Given the description of an element on the screen output the (x, y) to click on. 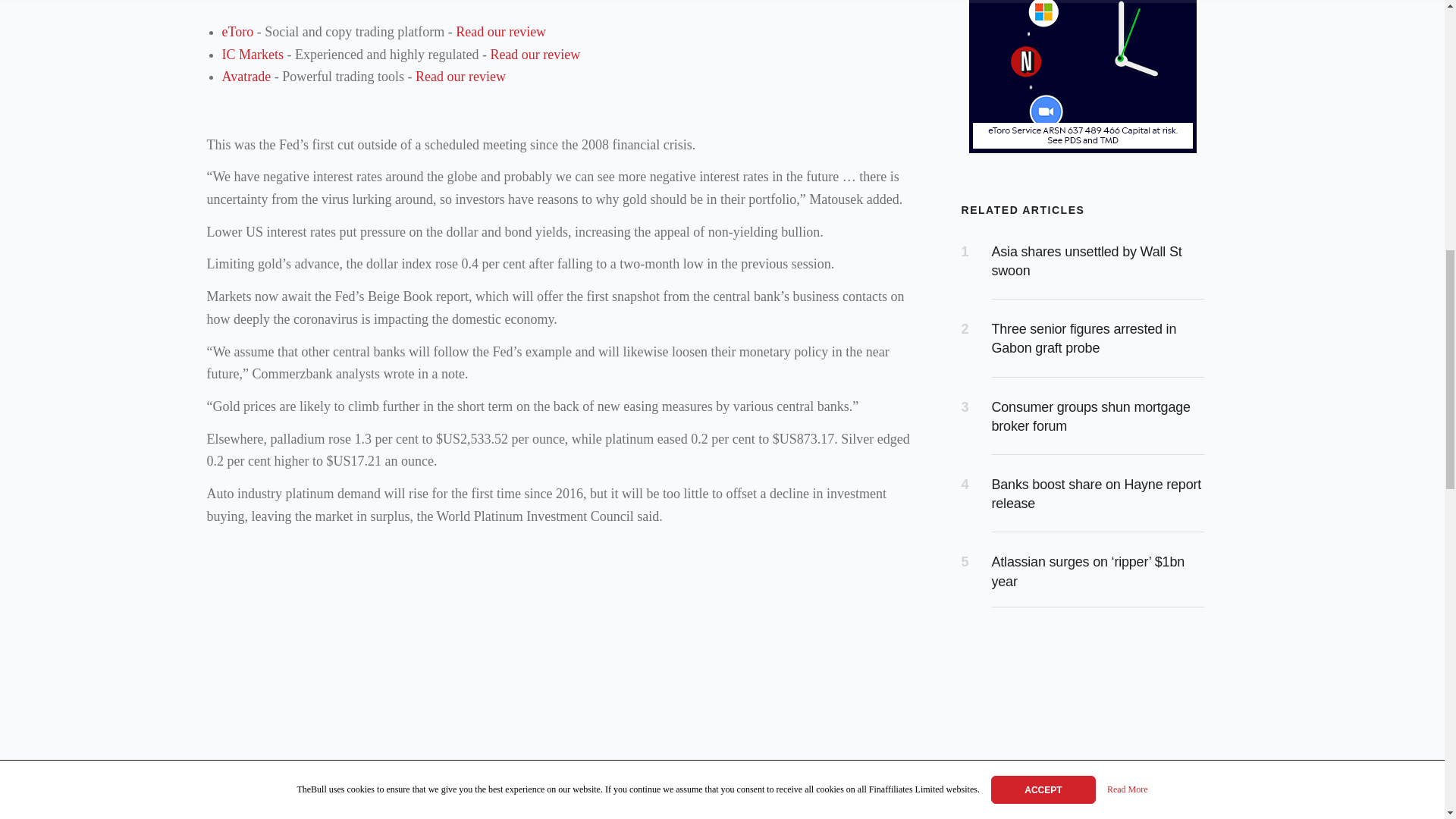
Consumer groups shun mortgage broker forum (1091, 416)
Three senior figures arrested in Gabon graft probe (1083, 338)
Asia shares unsettled by Wall St swoon (1086, 261)
Avatrade (245, 76)
Banks boost share on Hayne report release (1096, 493)
eToro (237, 31)
IC Markets (251, 54)
Read our review (534, 54)
Asia shares unsettled by Wall St swoon (1086, 261)
Read our review (500, 31)
Banks boost share on Hayne report release (1096, 493)
Three senior figures arrested in Gabon graft probe (1083, 338)
Consumer groups shun mortgage broker forum (1091, 416)
Read our review (459, 76)
